Given the description of an element on the screen output the (x, y) to click on. 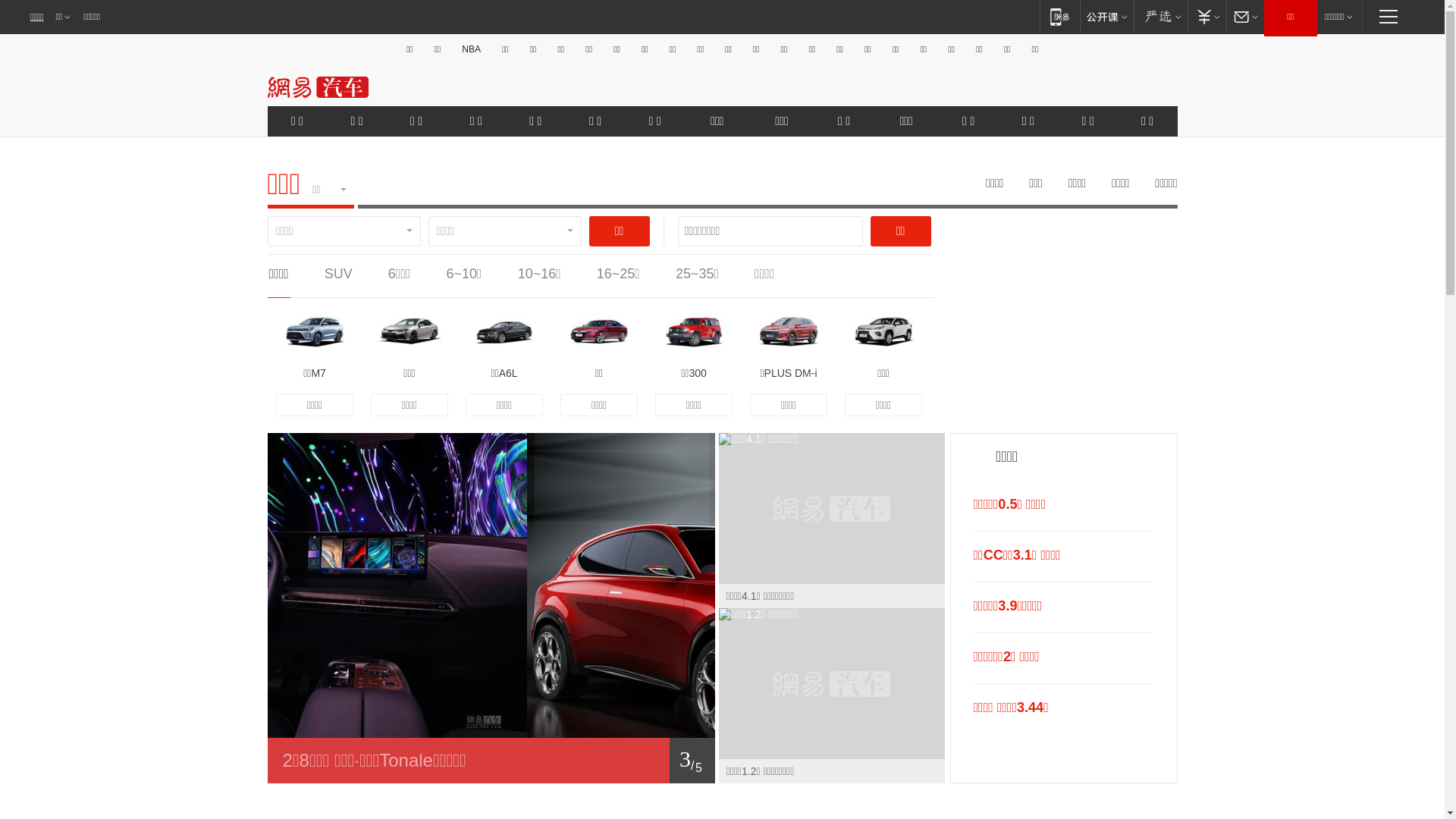
NBA Element type: text (471, 48)
SUV Element type: text (338, 273)
1/ 5 Element type: text (490, 760)
